Given the description of an element on the screen output the (x, y) to click on. 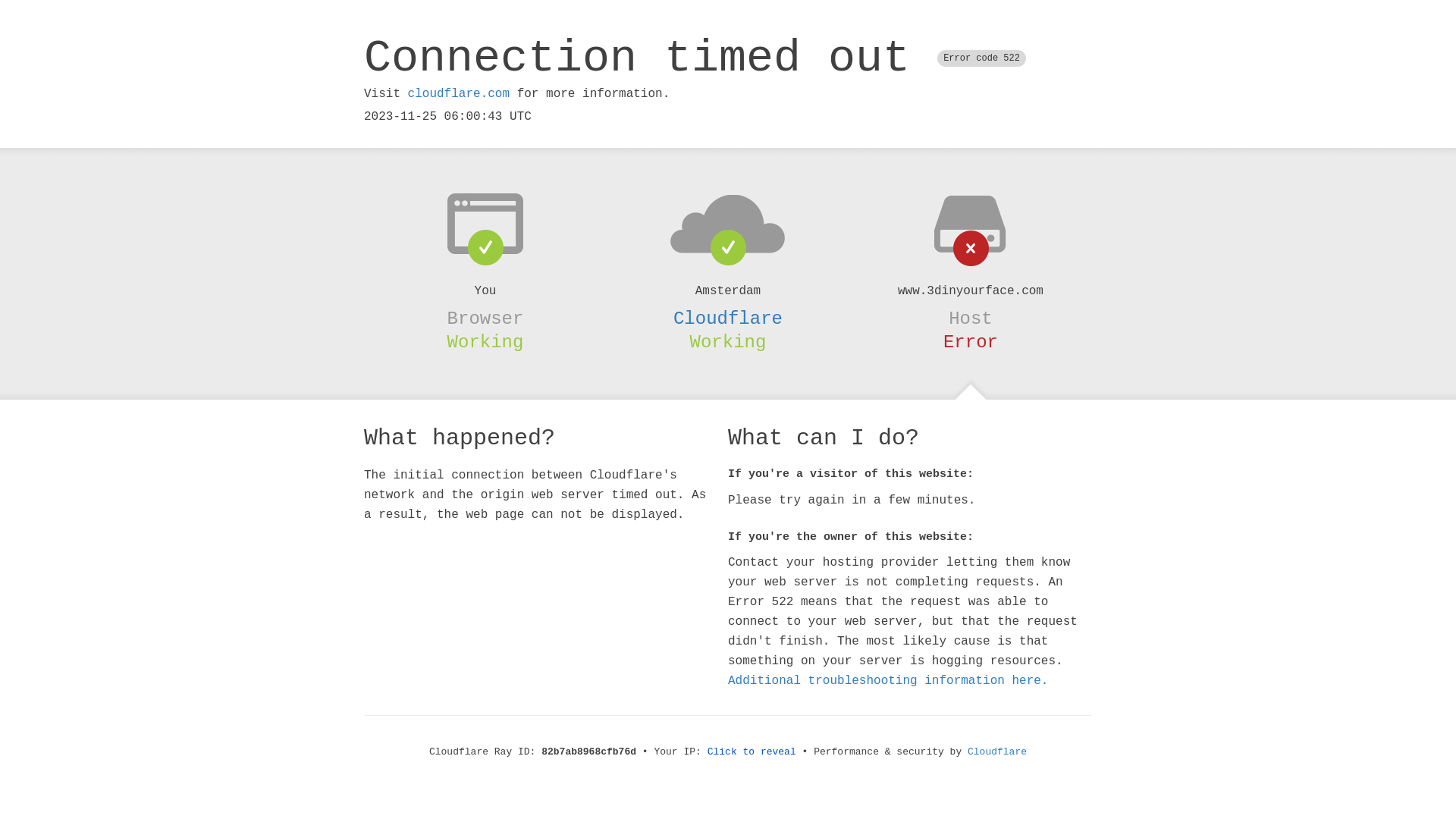
Additional troubleshooting information here. Element type: text (888, 680)
Cloudflare Element type: text (996, 751)
Cloudflare Element type: text (727, 318)
cloudflare.com Element type: text (458, 93)
Click to reveal Element type: text (751, 751)
